Given the description of an element on the screen output the (x, y) to click on. 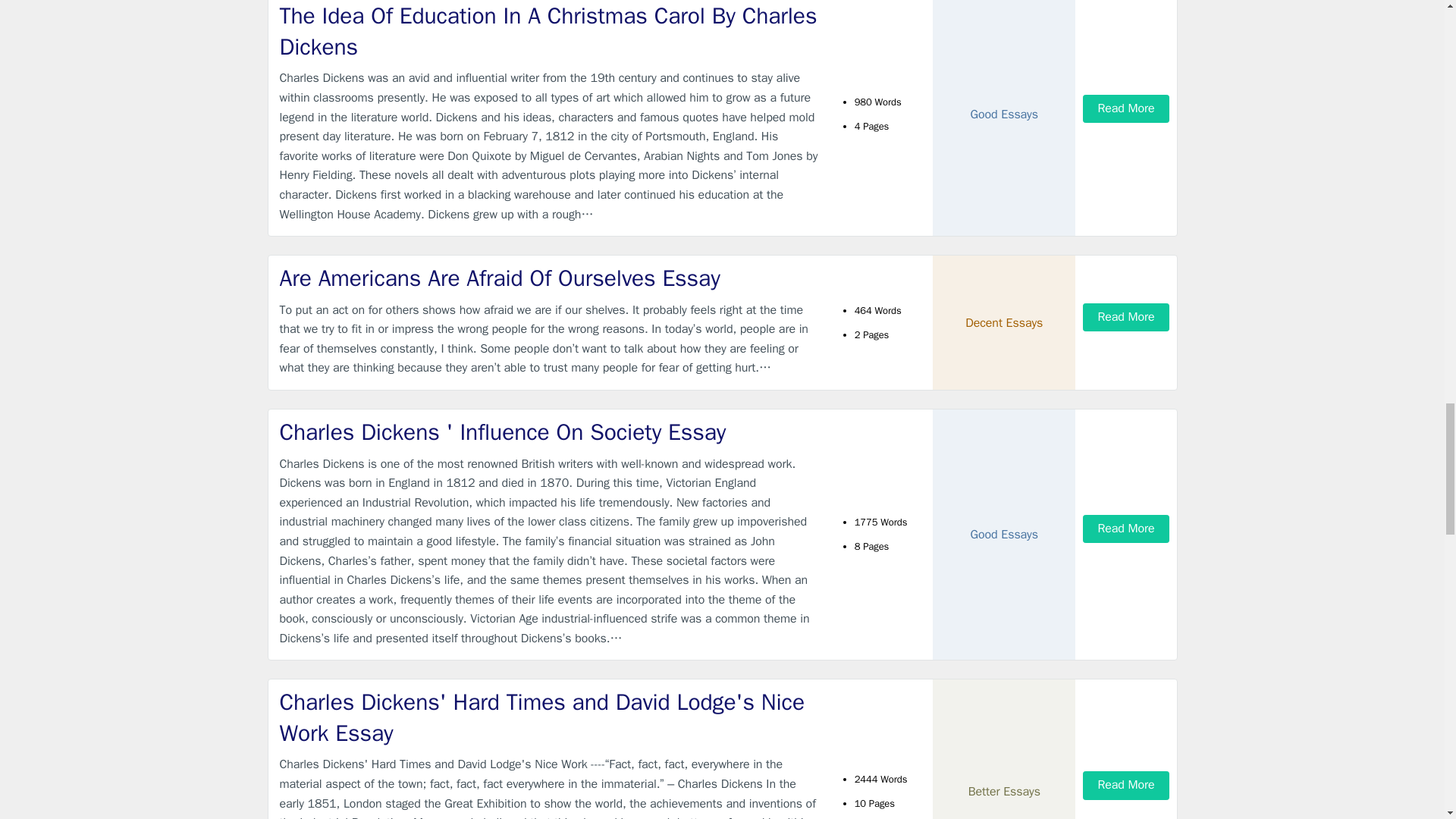
Are Americans Are Afraid Of Ourselves Essay (548, 278)
Read More (1126, 108)
